Given the description of an element on the screen output the (x, y) to click on. 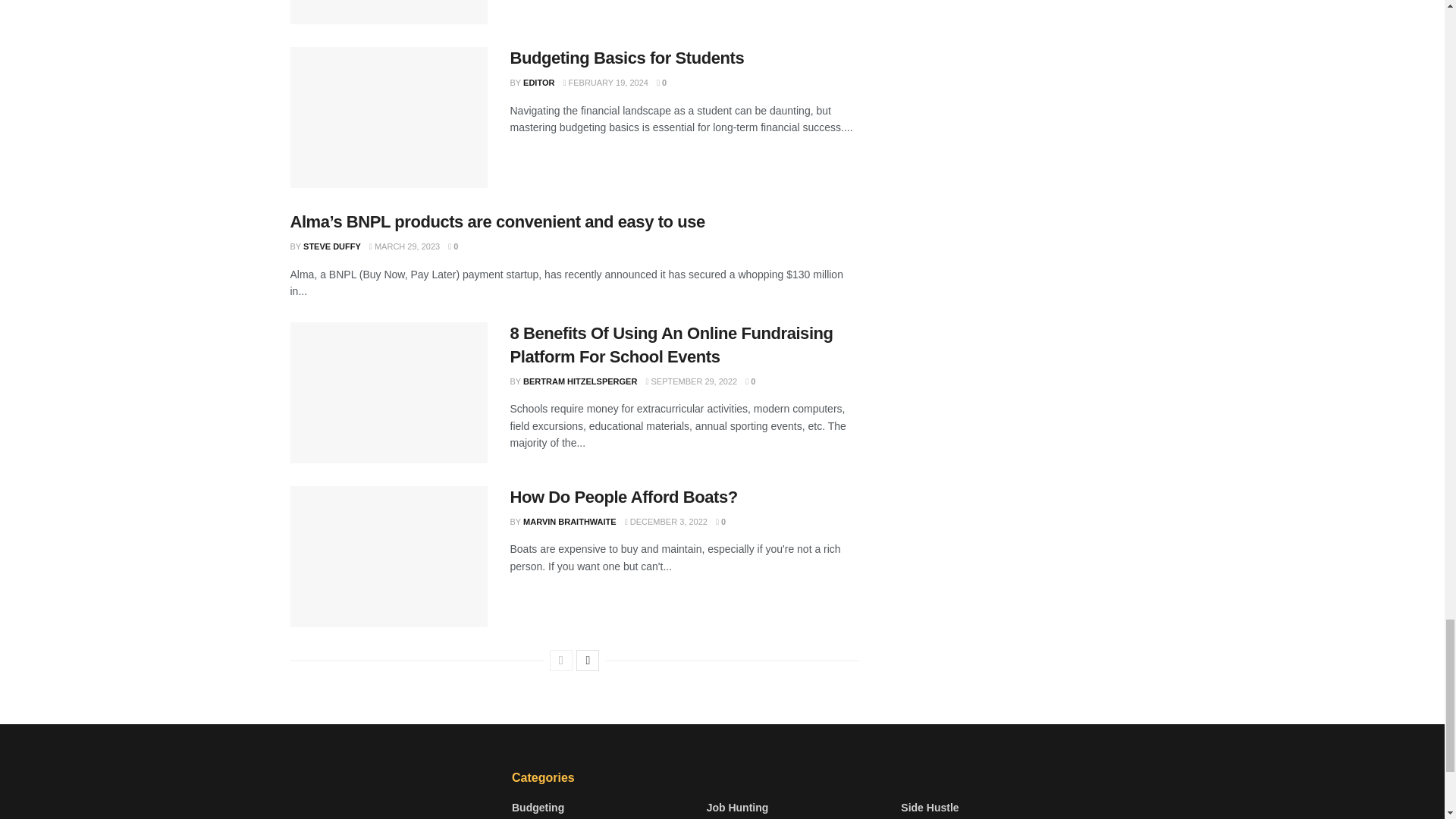
moneyside (389, 789)
Previous (561, 660)
Next (587, 660)
